Given the description of an element on the screen output the (x, y) to click on. 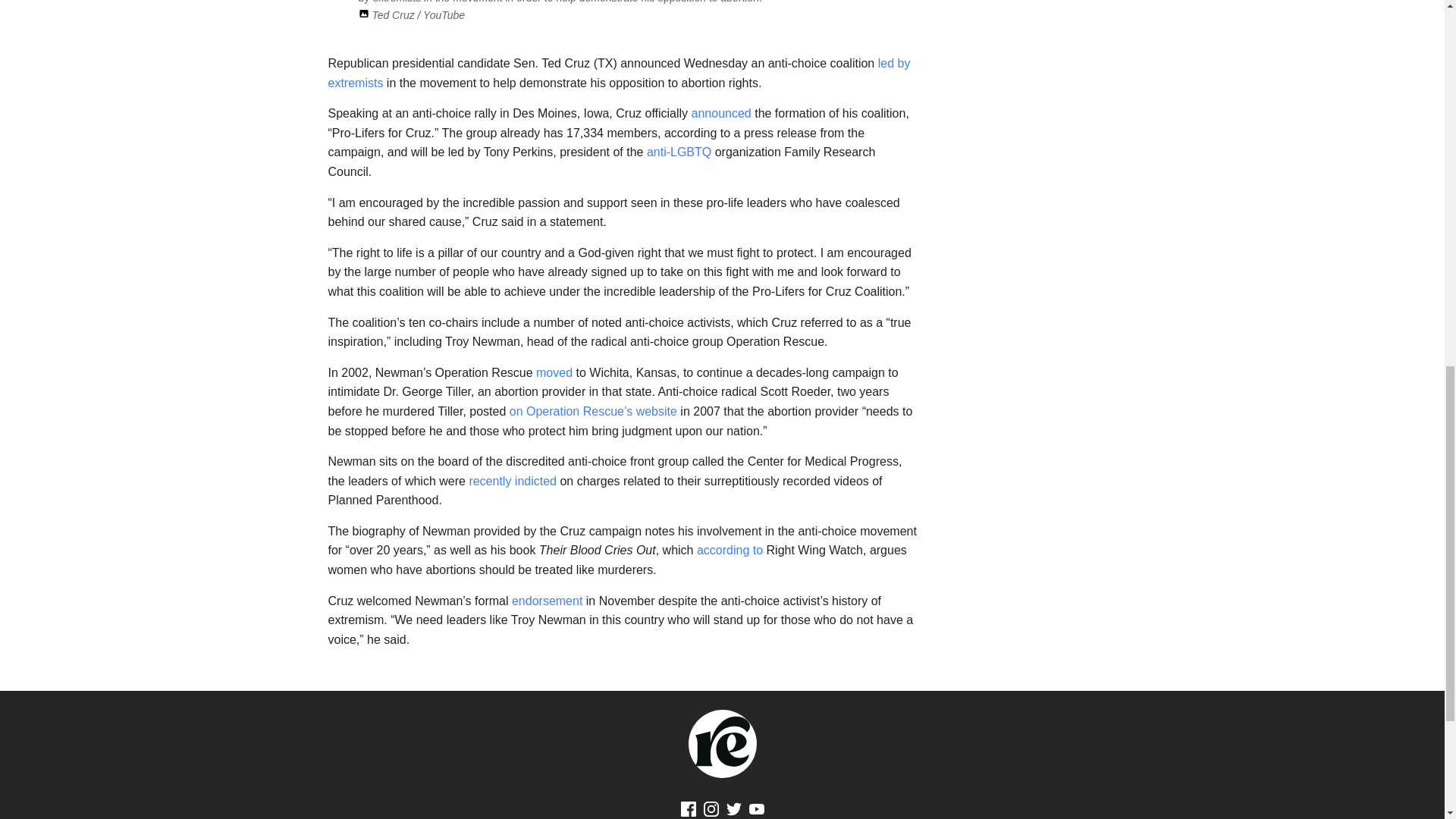
led by extremists (618, 72)
endorsement (547, 600)
recently indicted (512, 481)
announced (721, 113)
anti-LGBTQ (678, 151)
according to (729, 549)
moved (553, 372)
